Given the description of an element on the screen output the (x, y) to click on. 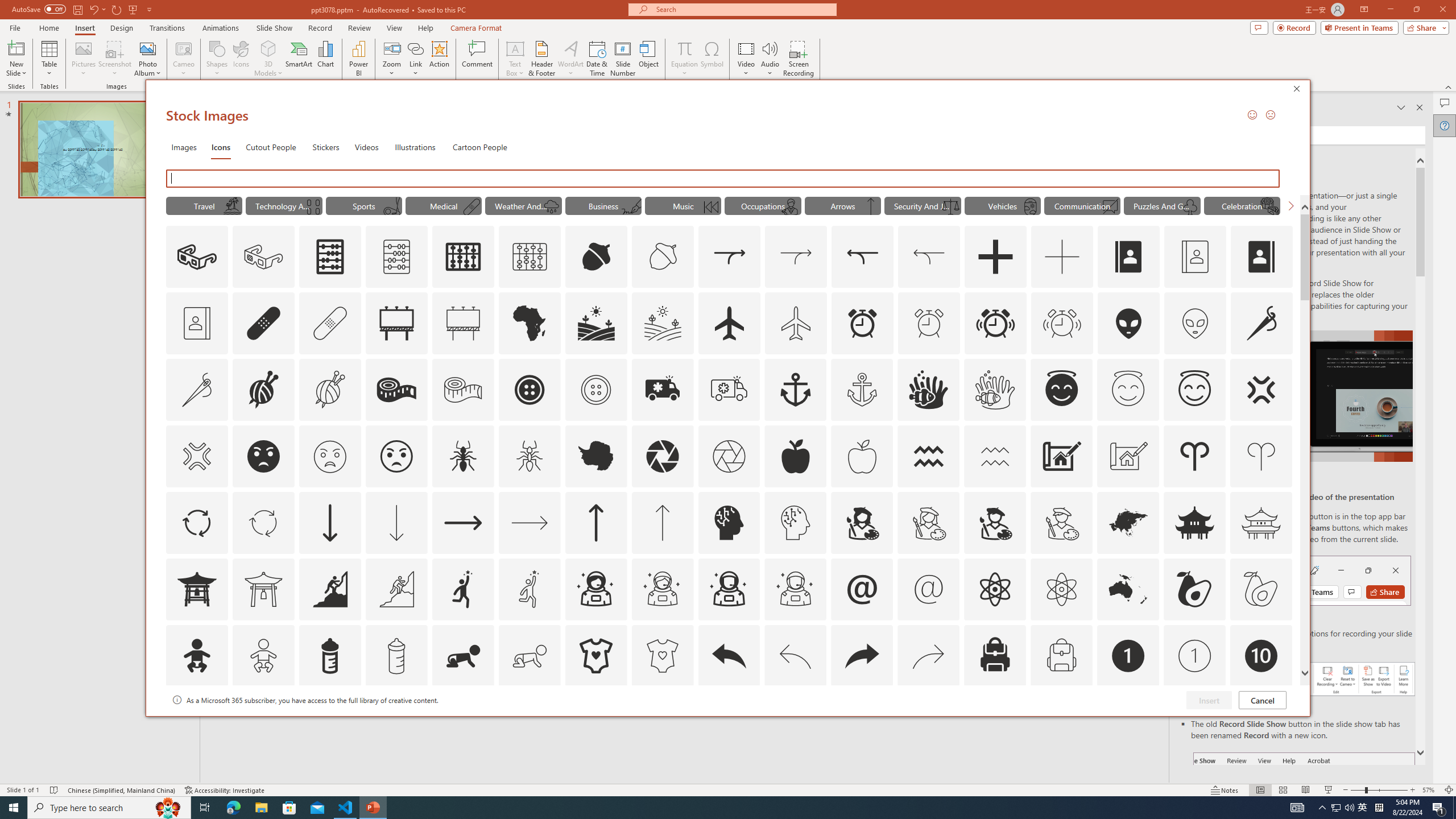
AutomationID: Icons_BabyCrawling (462, 655)
AutomationID: Icons_ArtistFemale_M (928, 522)
Icons (220, 146)
AutomationID: Icons_AlienFace_M (1194, 323)
AutomationID: Icons_Badge3_M (462, 721)
AutomationID: Icons_Aquarius (928, 455)
outline (1194, 389)
AutomationID: Icons_Anchor_M (861, 389)
